Given the description of an element on the screen output the (x, y) to click on. 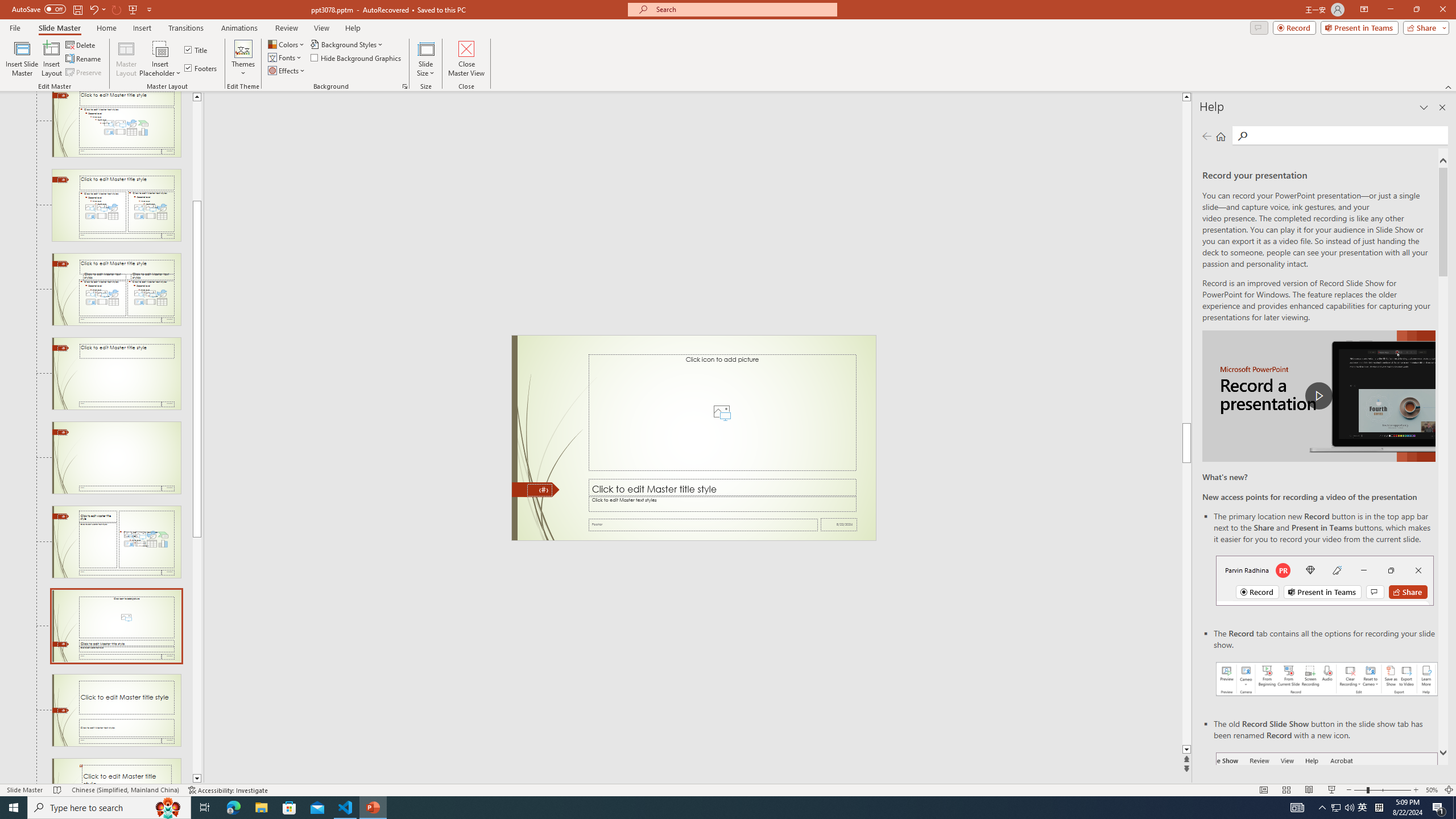
Picture Placeholder 2 (722, 412)
play Record a Presentation (1318, 395)
Effects (287, 69)
Insert Slide Master (21, 58)
Hide Background Graphics (356, 56)
Format Background... (404, 85)
Fonts (285, 56)
Slide Title and Content Layout: used by no slides (116, 124)
